Given the description of an element on the screen output the (x, y) to click on. 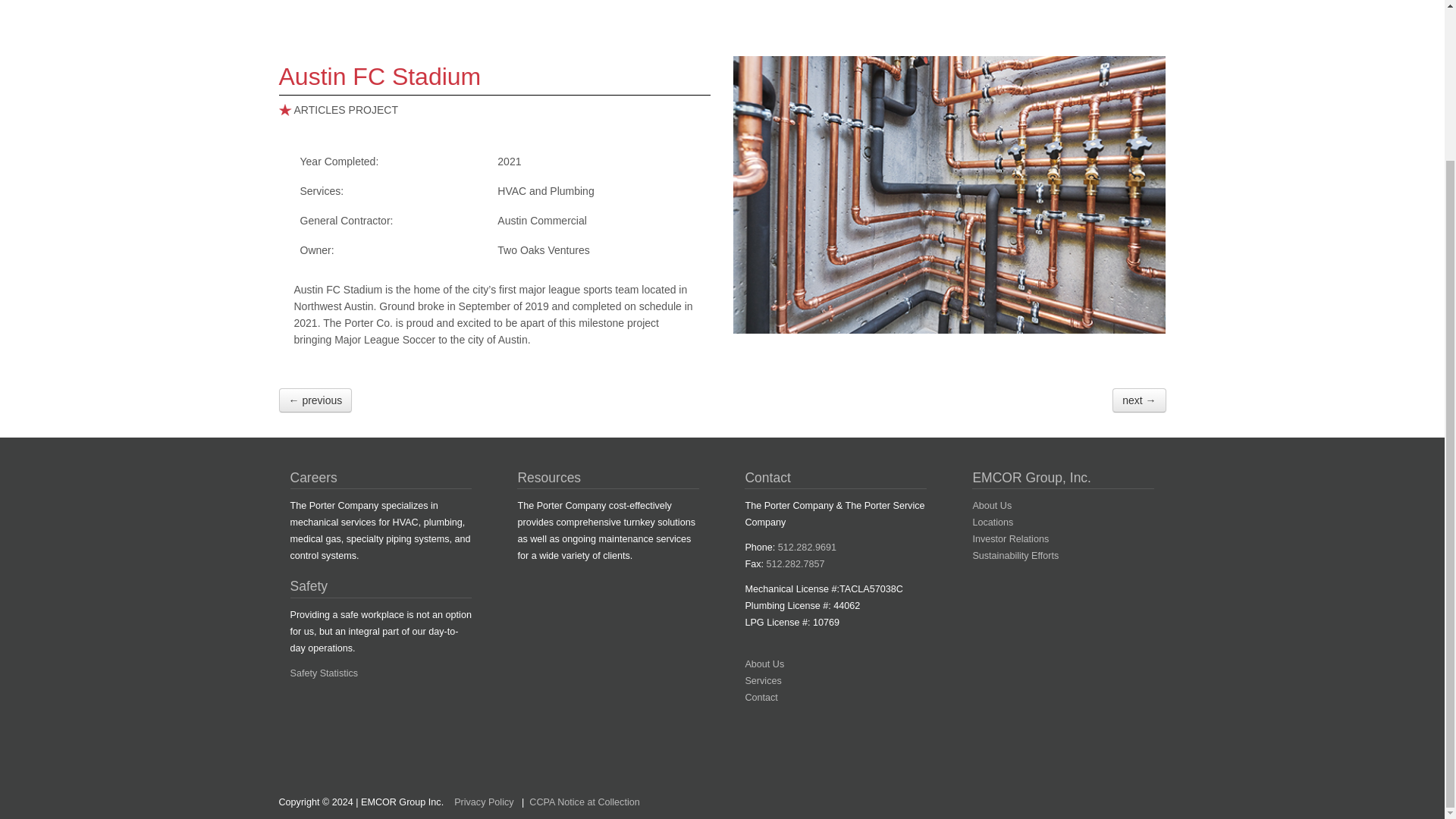
Services (762, 680)
About Us (991, 505)
CCPA Notice at Collection (584, 801)
Locations (992, 521)
Investor Relations (1010, 538)
Contact (760, 697)
Sustainability Efforts (1015, 555)
Austin FC Stadium (380, 76)
512.282.9691 (806, 547)
EMCOR Group, Inc. (1031, 477)
